Given the description of an element on the screen output the (x, y) to click on. 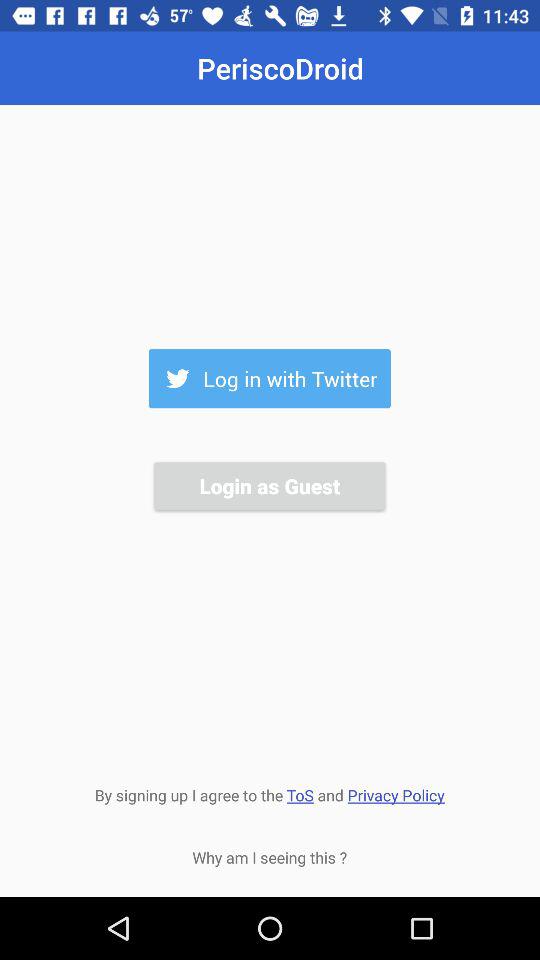
flip until by signing up item (269, 793)
